Given the description of an element on the screen output the (x, y) to click on. 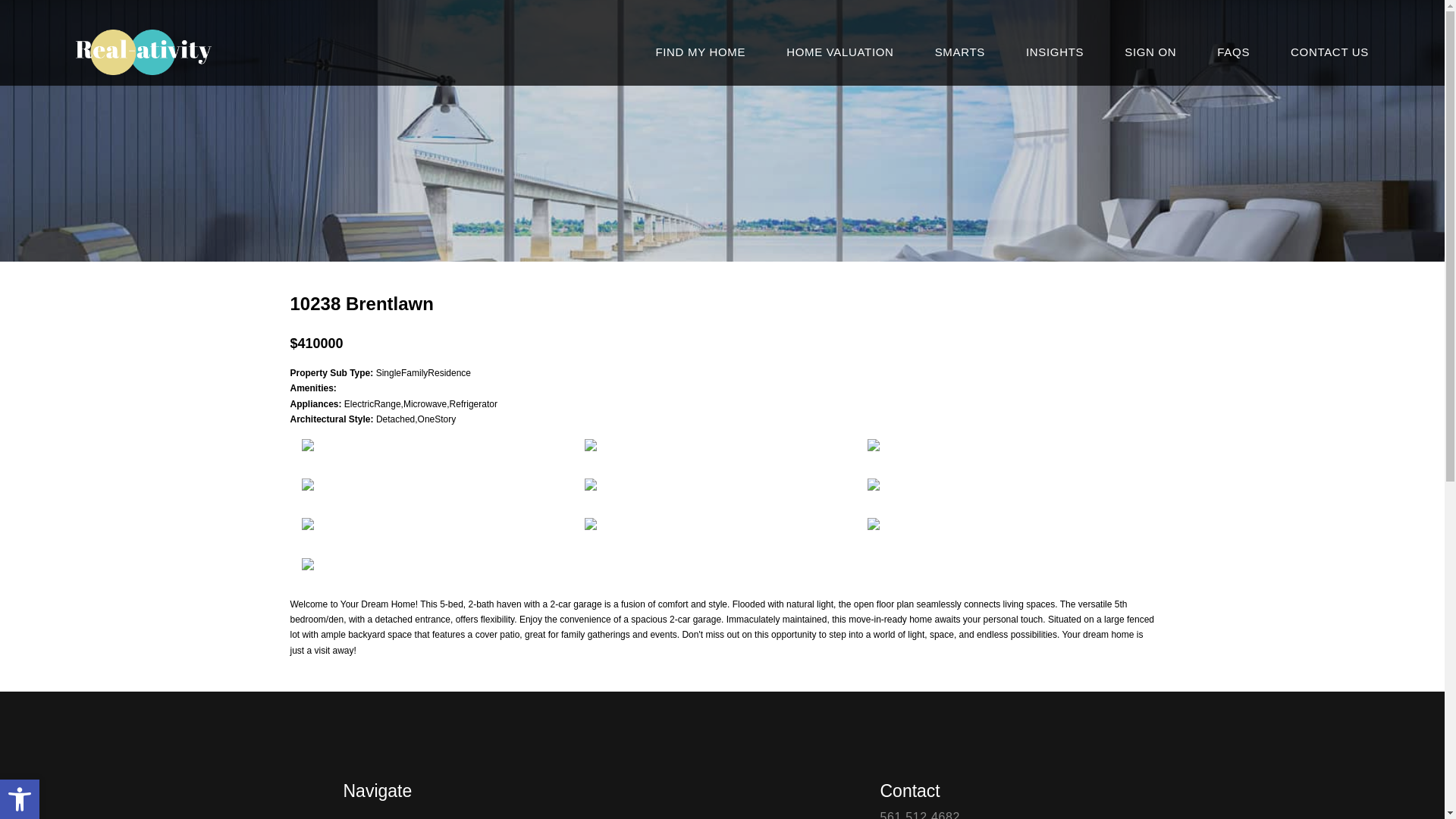
Accessibility Tools (19, 799)
SIGN ON (19, 799)
SMARTS (1150, 51)
CONTACT US (959, 51)
Accessibility Tools (1329, 51)
INSIGHTS (19, 799)
FAQS (1054, 51)
HOME VALUATION (1233, 51)
FIND MY HOME (839, 51)
